Given the description of an element on the screen output the (x, y) to click on. 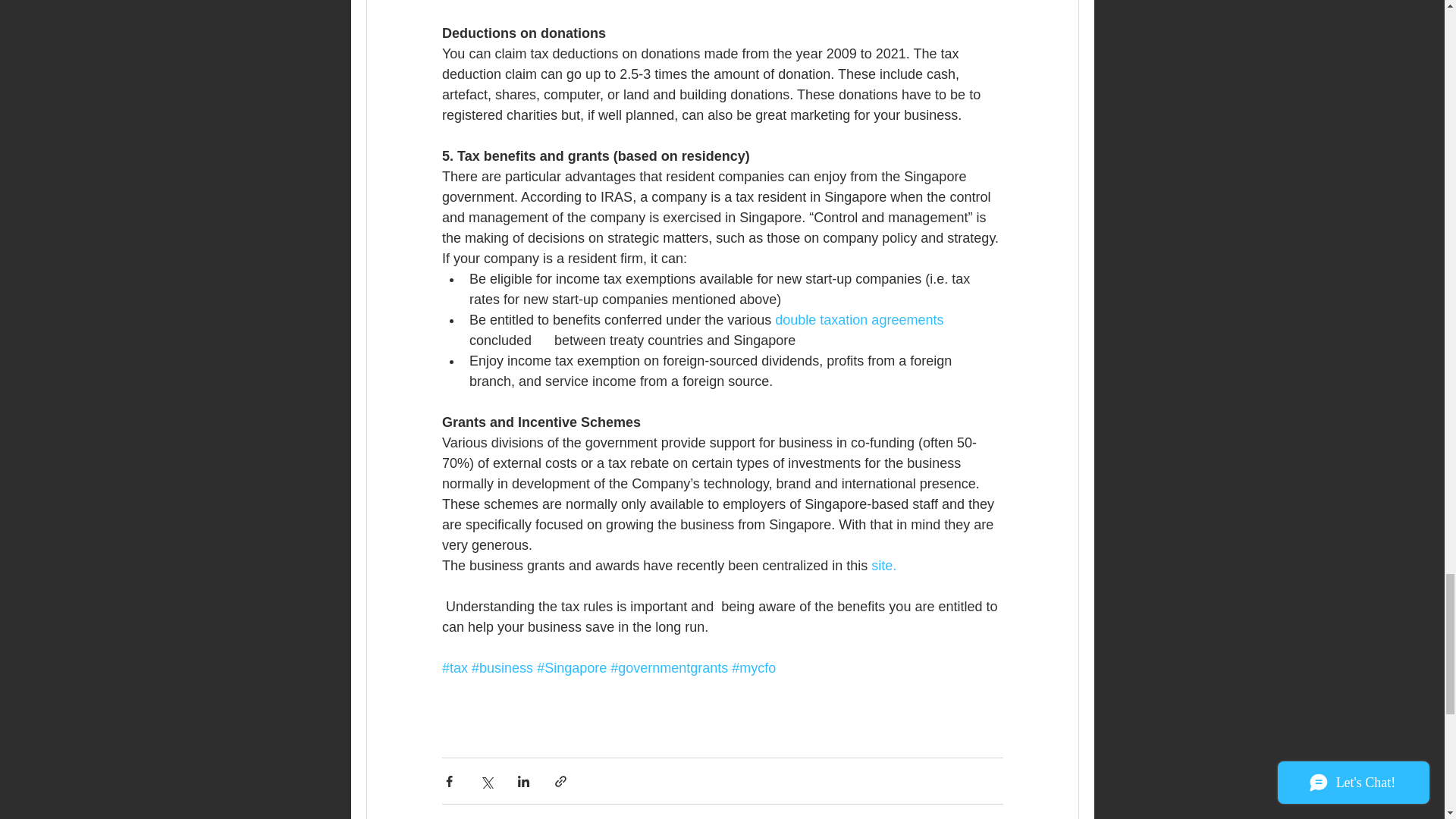
site. (883, 565)
double taxation agreements (858, 319)
